Given the description of an element on the screen output the (x, y) to click on. 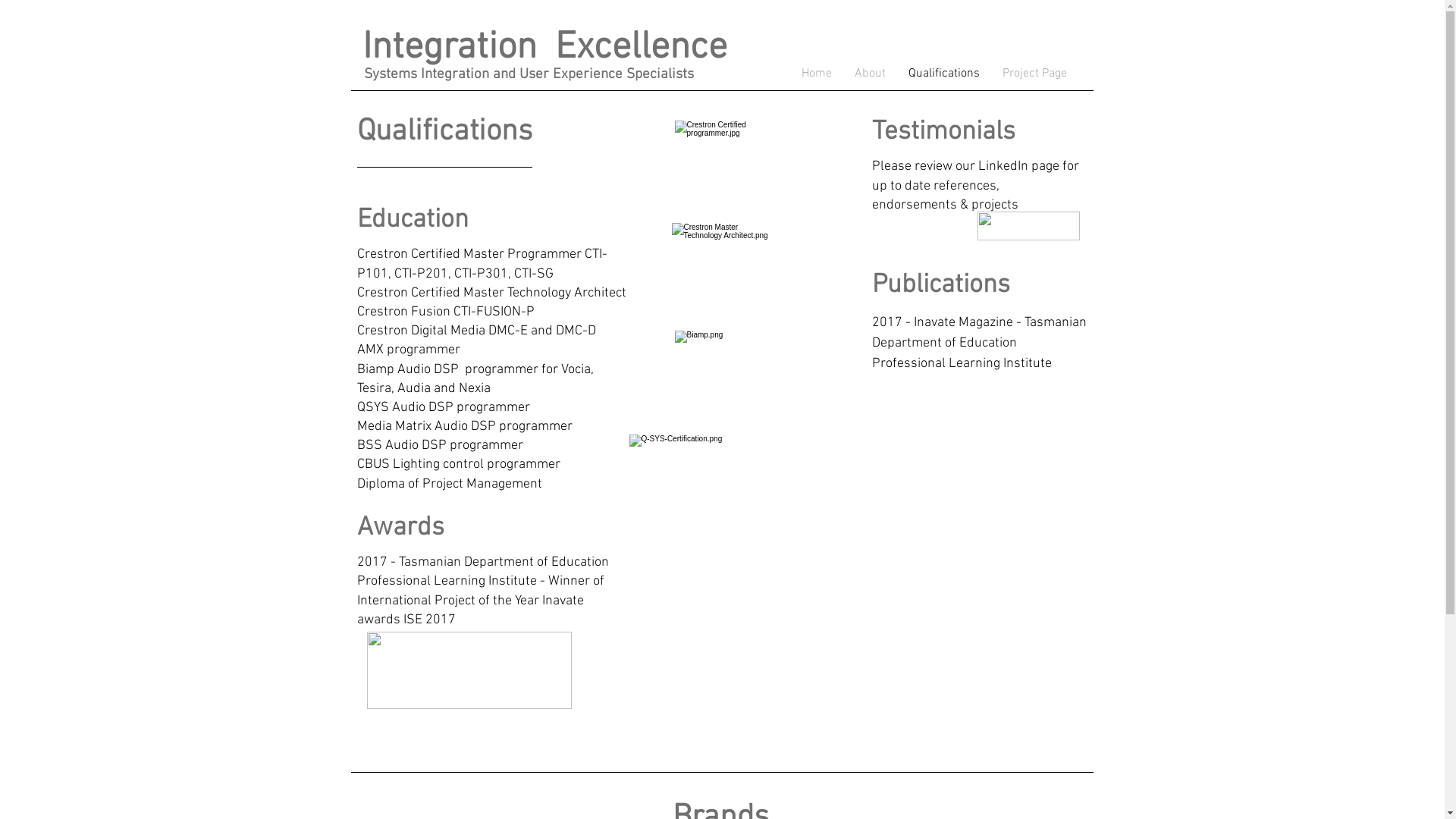
Project Page Element type: text (1033, 73)
About Element type: text (870, 73)
Home Element type: text (816, 73)
Qualifications Element type: text (943, 73)
